Given the description of an element on the screen output the (x, y) to click on. 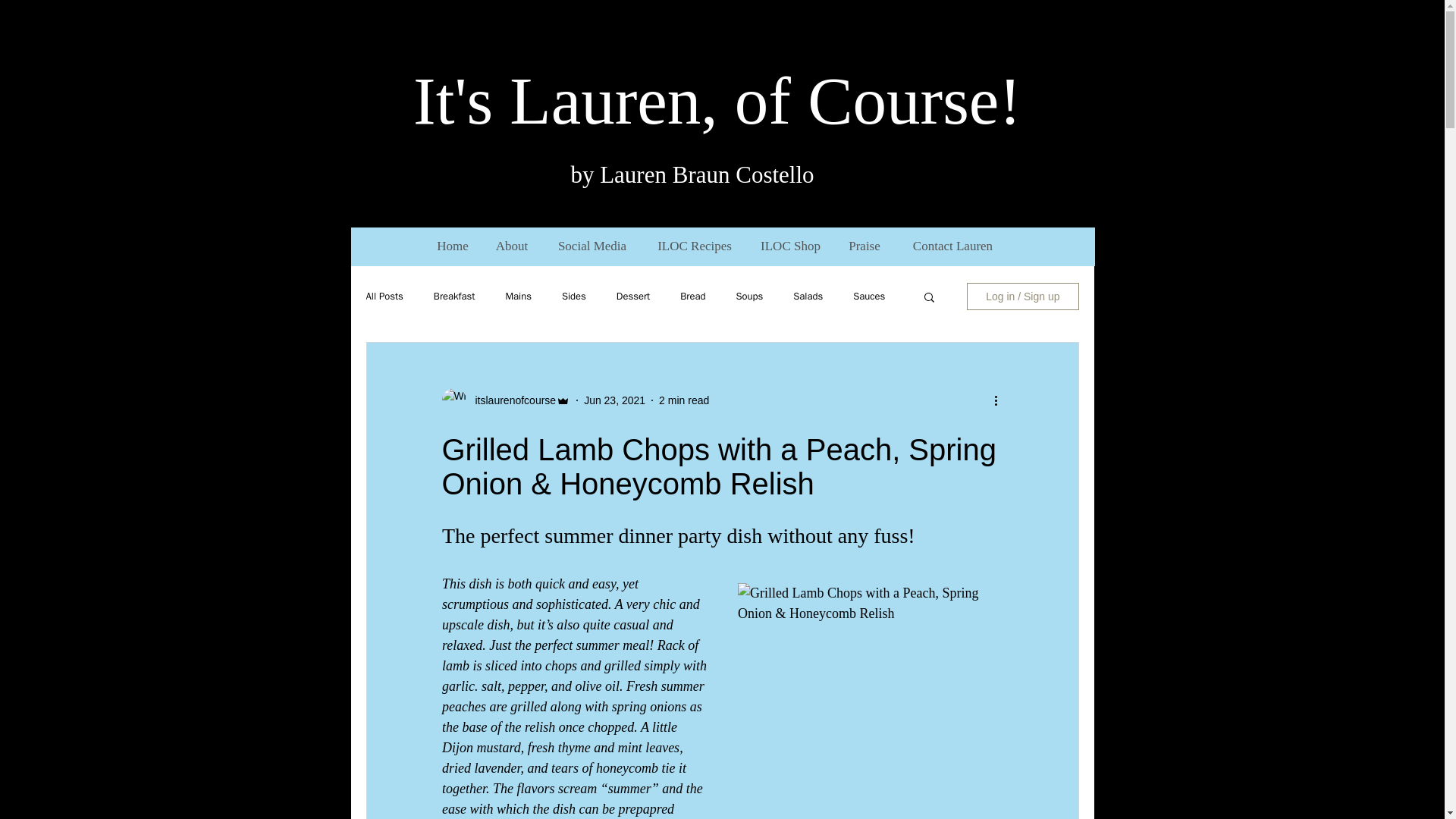
Salads (807, 296)
Bread (691, 296)
urse! (954, 100)
Jun 23, 2021 (614, 399)
itslaurenofcourse (510, 400)
2 min read (684, 399)
Home (452, 246)
Contact Lauren (953, 246)
Sides (574, 296)
of Co (801, 100)
